Given the description of an element on the screen output the (x, y) to click on. 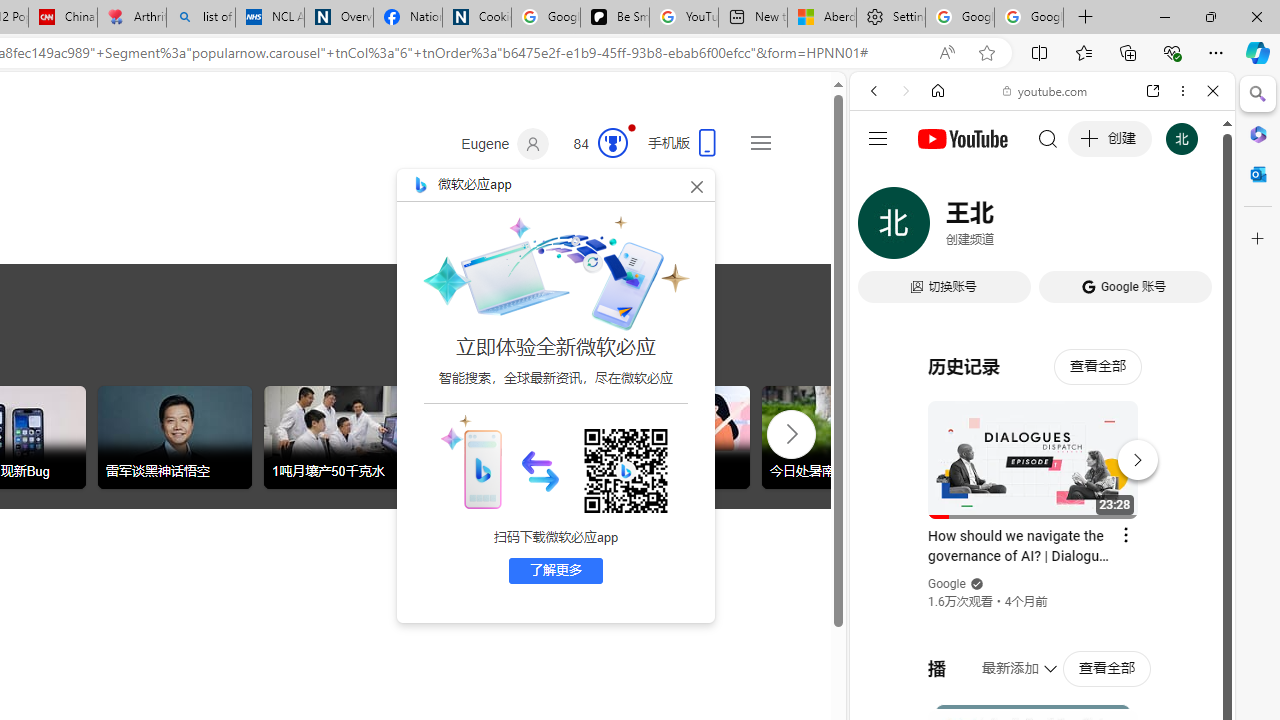
Home (938, 91)
Google (947, 584)
More options (1182, 91)
Global web icon (888, 288)
Restore (1210, 16)
This site scope (936, 180)
AutomationID: tob_right_arrow (791, 433)
Cookies (476, 17)
youtube.com (1046, 90)
Microsoft 365 (1258, 133)
Be Smart | creating Science videos | Patreon (614, 17)
